Given the description of an element on the screen output the (x, y) to click on. 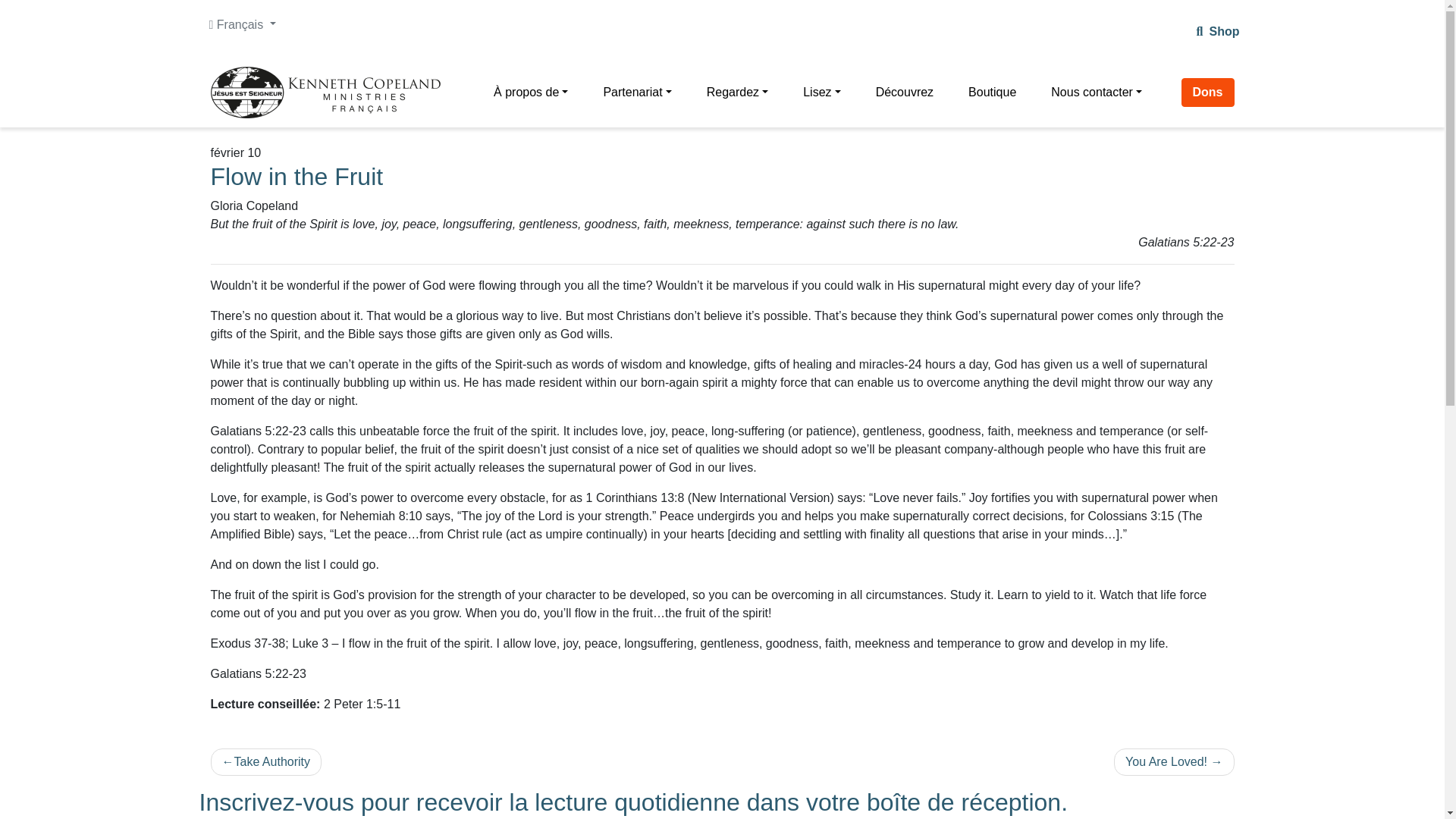
Regardez (737, 91)
Partenariat (636, 91)
Lisez (820, 91)
Tap for Home Page (332, 91)
Go (17, 14)
Partenariat (636, 91)
Shop (1223, 31)
